Given the description of an element on the screen output the (x, y) to click on. 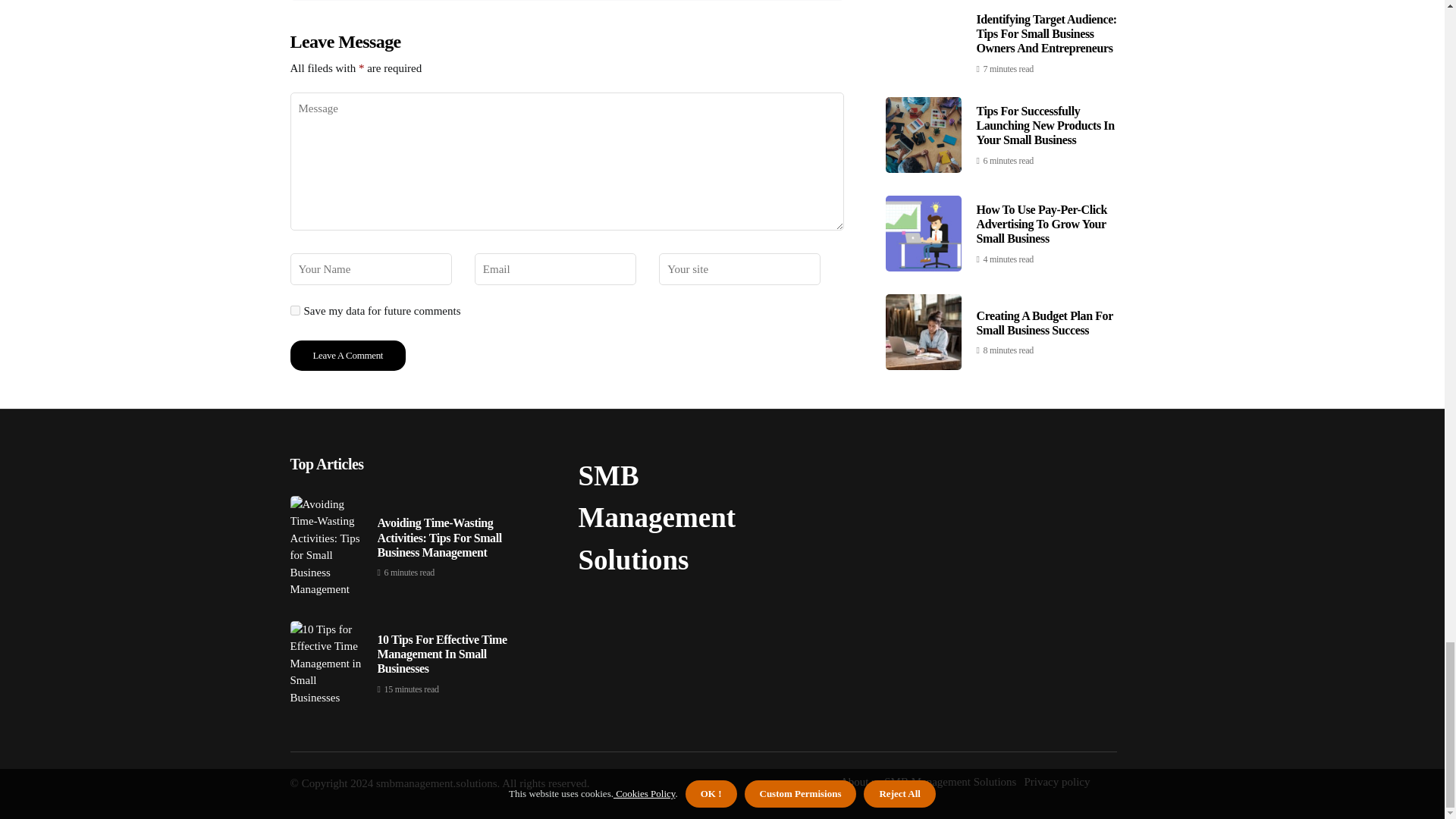
Leave a Comment (347, 355)
yes (294, 310)
